Given the description of an element on the screen output the (x, y) to click on. 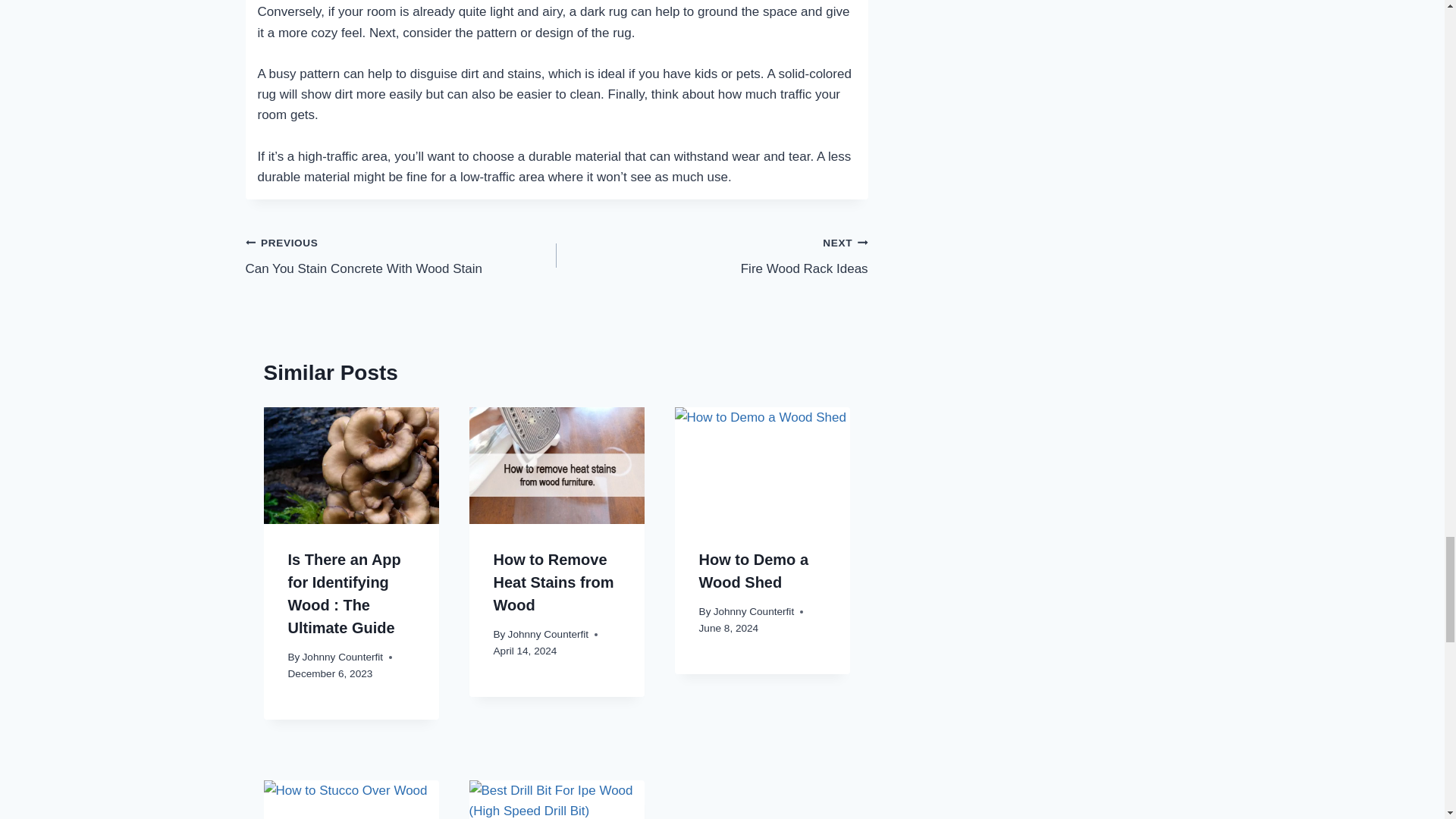
Johnny Counterfit (548, 633)
How to Demo a Wood Shed (753, 570)
Johnny Counterfit (753, 611)
Is There an App for Identifying Wood : The Ultimate Guide (711, 255)
Johnny Counterfit (401, 255)
How to Remove Heat Stains from Wood (344, 593)
